Given the description of an element on the screen output the (x, y) to click on. 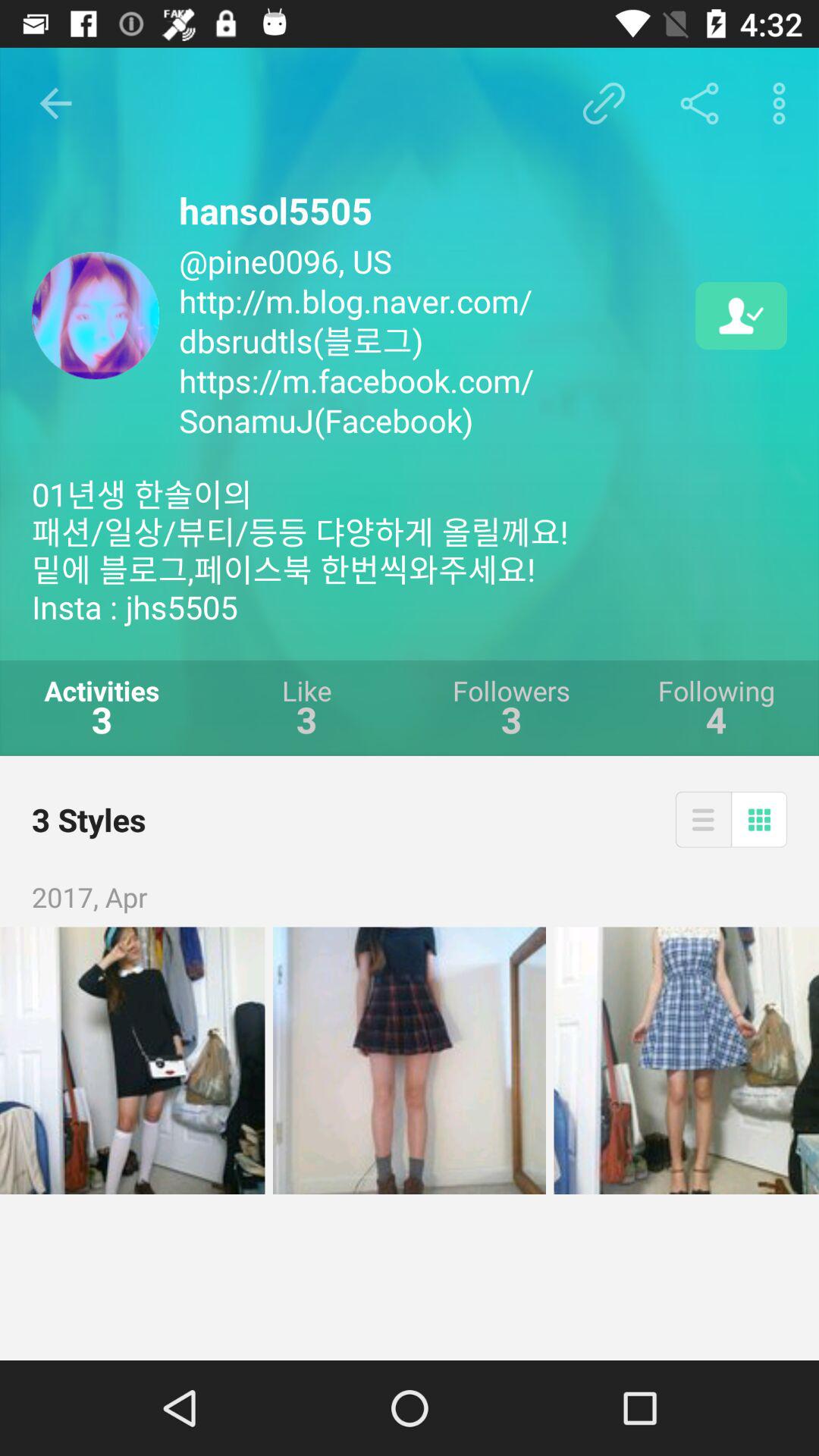
select the item next to the 3 styles icon (702, 819)
